Given the description of an element on the screen output the (x, y) to click on. 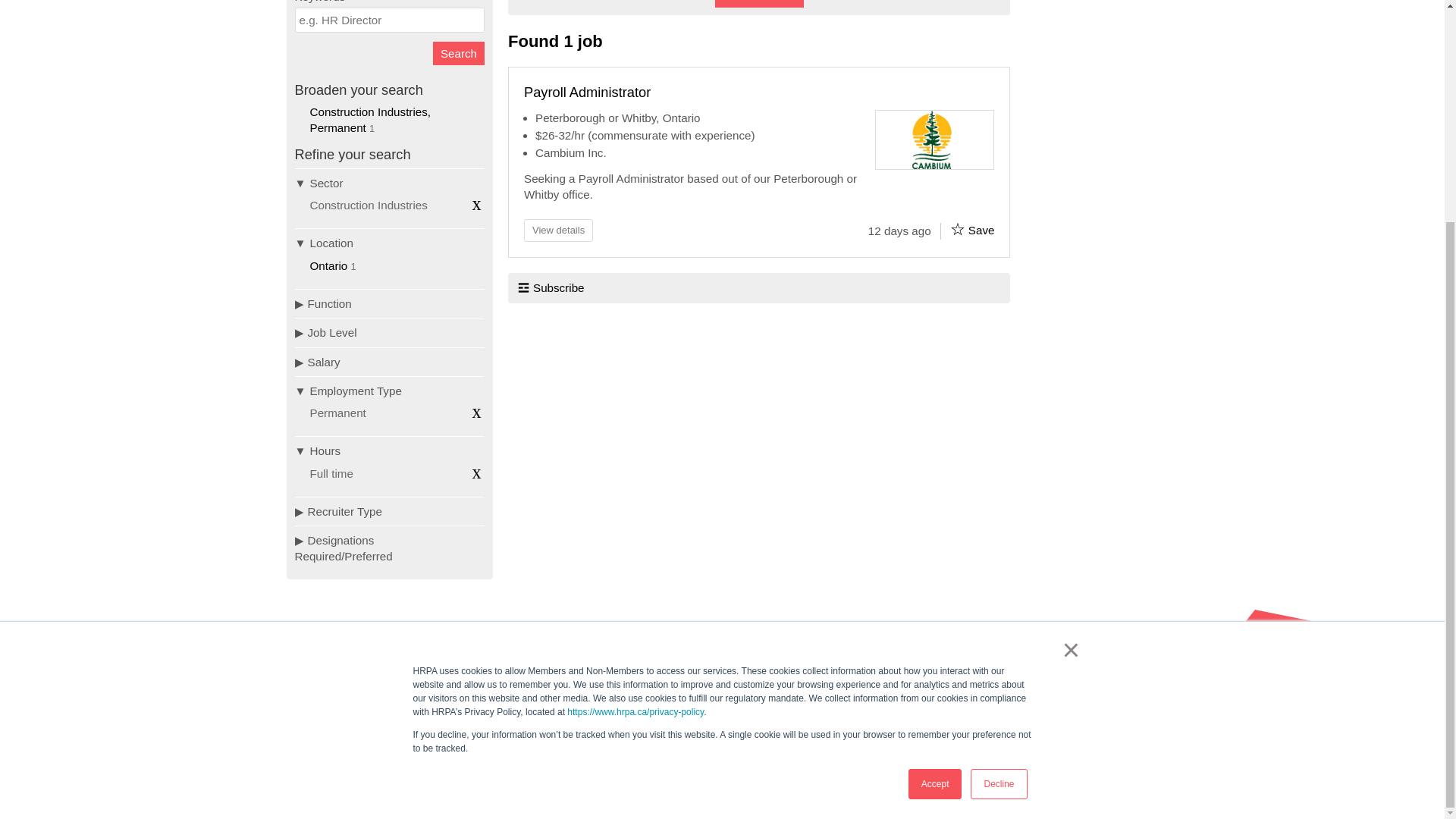
Function (389, 303)
Ontario (327, 265)
Remove selection (476, 411)
Location (389, 242)
Job Level (389, 331)
Remove selection (476, 472)
Remove selection (476, 203)
Decline (998, 490)
Add to shortlist (957, 228)
Search (458, 53)
Hours (389, 450)
Salary (389, 361)
Sector (389, 182)
Construction Industries, Permanent (369, 119)
Search (458, 53)
